Given the description of an element on the screen output the (x, y) to click on. 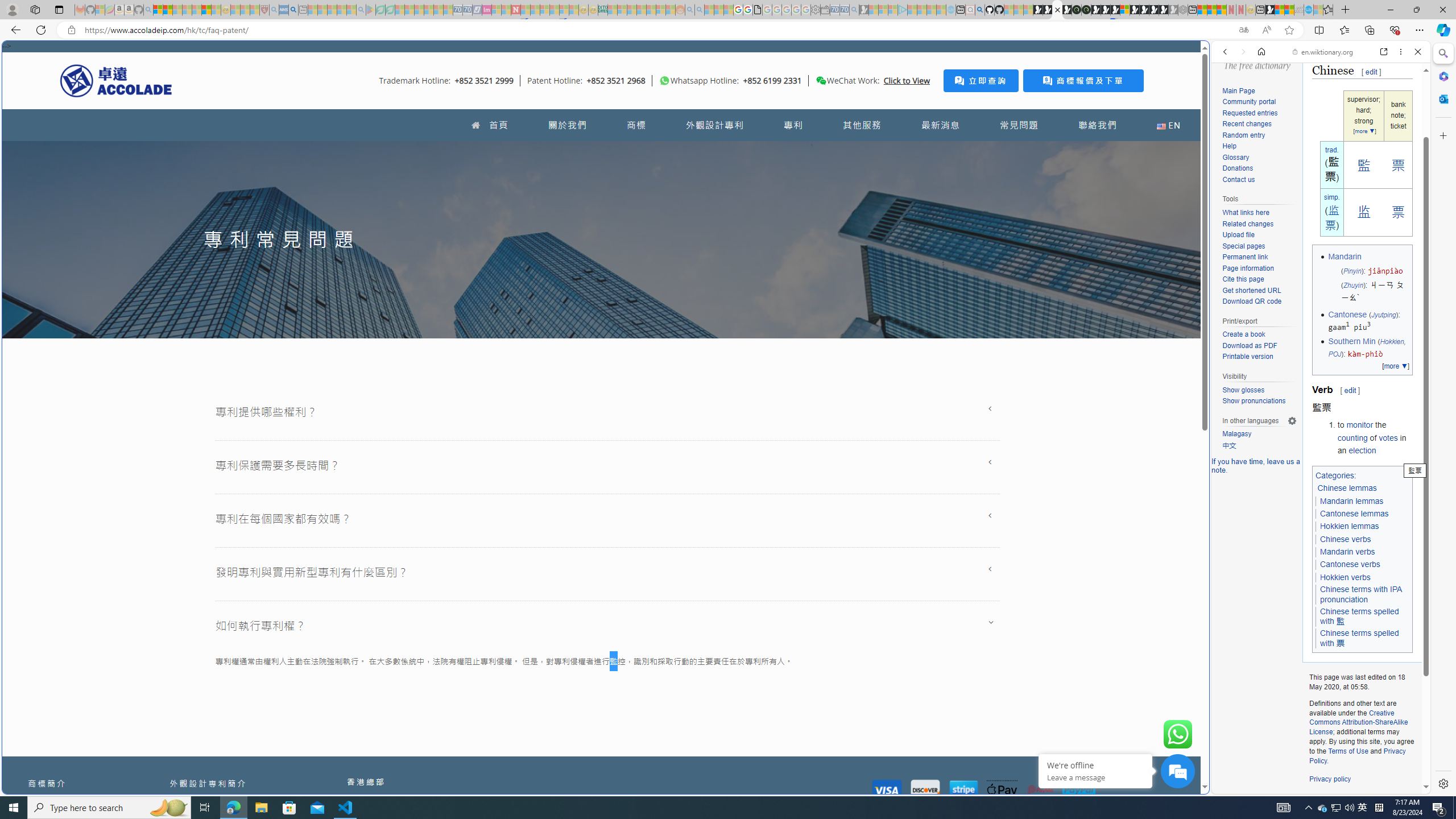
Random entry (1259, 135)
Hokkien (1391, 341)
